Given the description of an element on the screen output the (x, y) to click on. 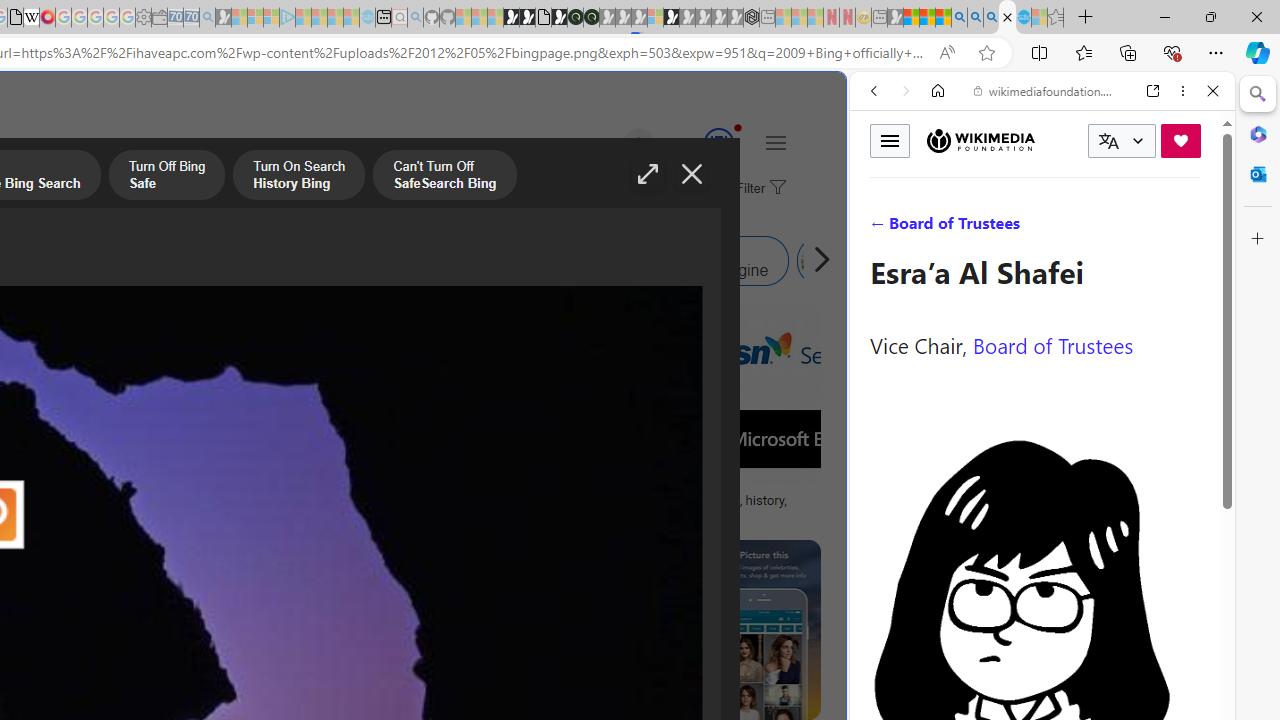
Search Filter, Search Tools (1093, 228)
Can't Turn Off SafeSearch Bing (444, 177)
Bing Real Estate - Home sales and rental listings - Sleeping (207, 17)
VIDEOS (1006, 228)
Wallet - Sleeping (159, 17)
Technology History timeline | Timetoast timelines (185, 508)
Play Zoo Boom in your browser | Games from Microsoft Start (527, 17)
Class: i icon icon-translate language-switcher__icon (1108, 141)
